Given the description of an element on the screen output the (x, y) to click on. 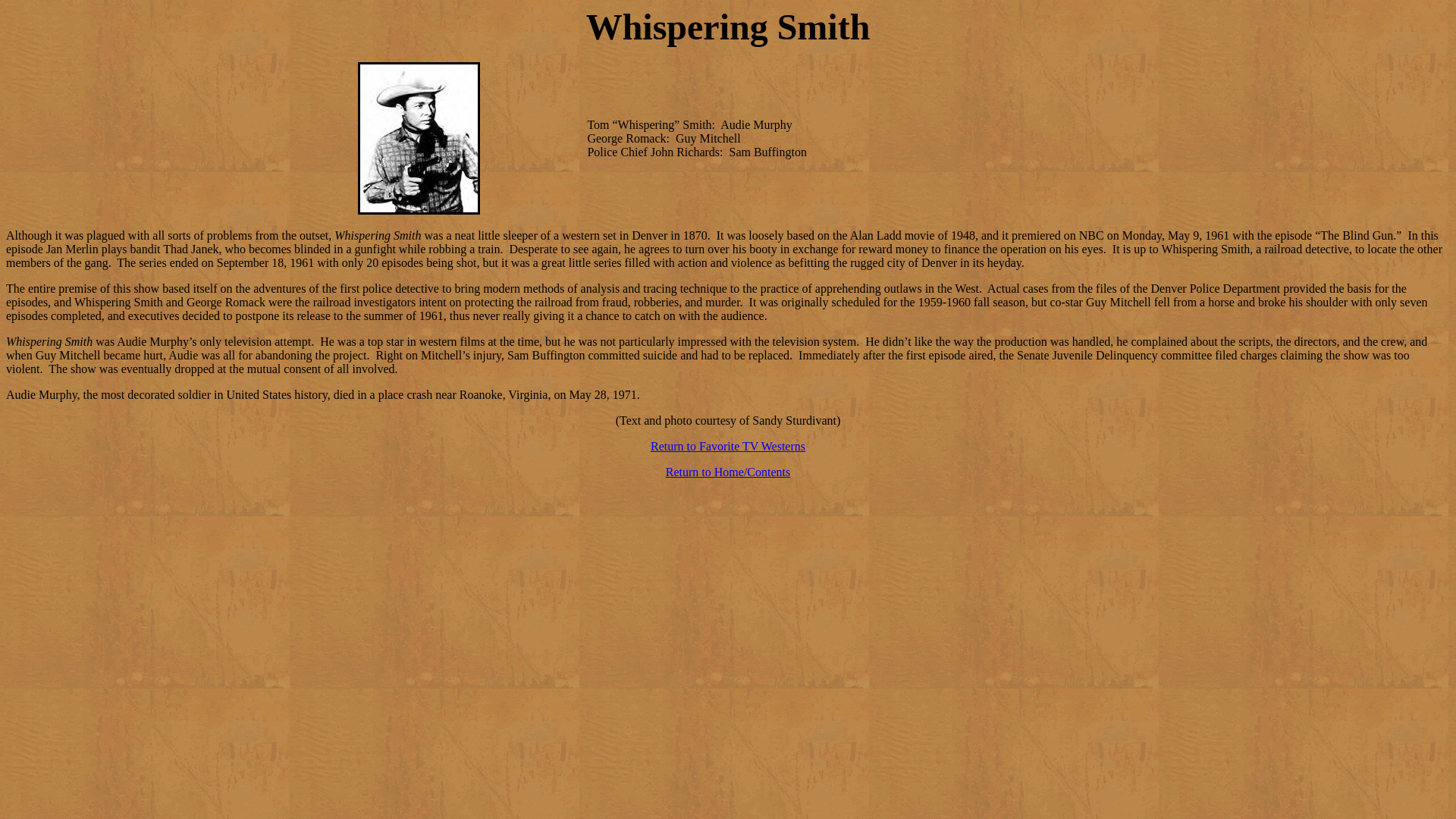
Return to Favorite TV Westerns (727, 445)
